Given the description of an element on the screen output the (x, y) to click on. 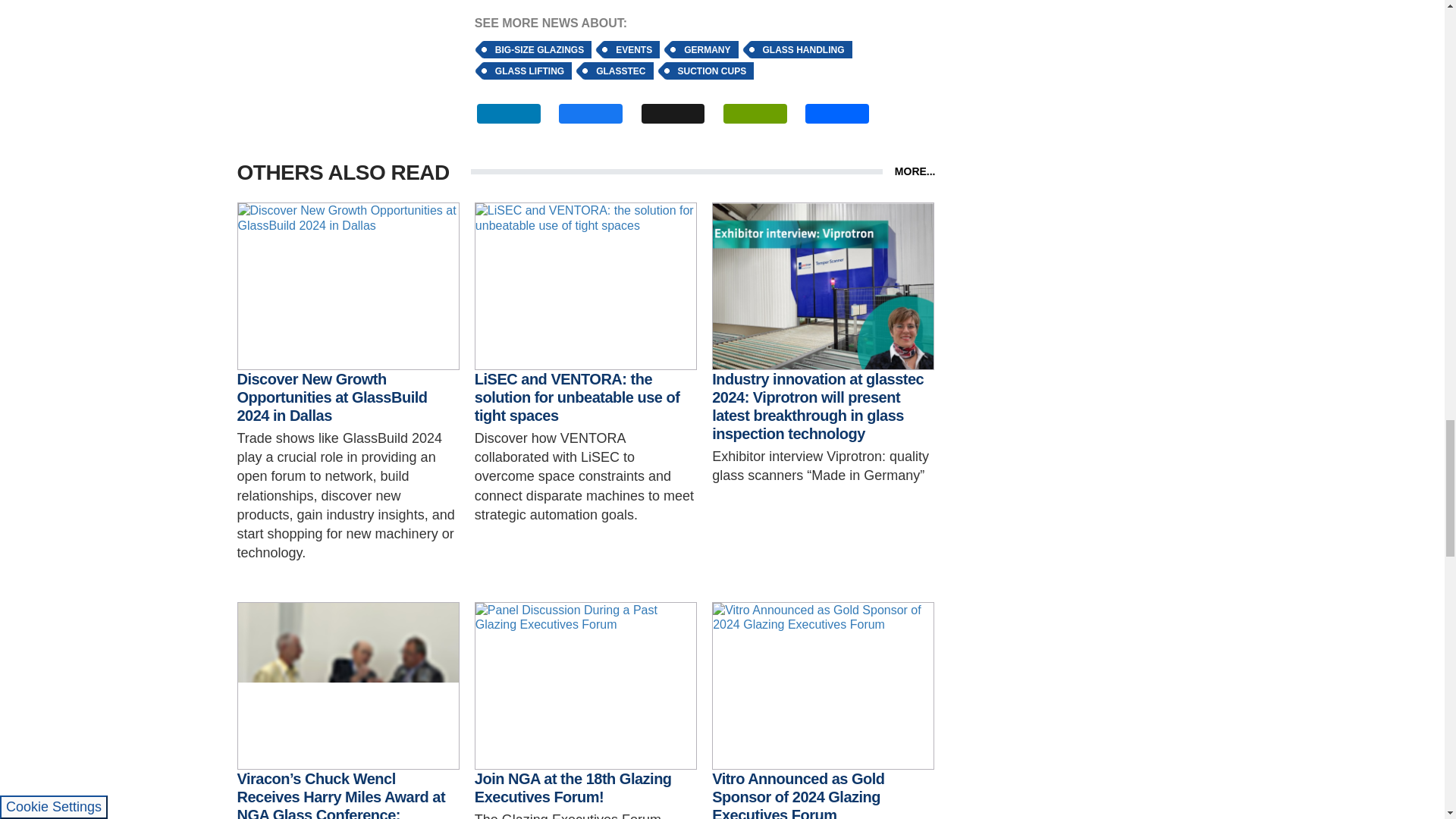
GLASS HANDLING (805, 49)
FACEBOOK (591, 113)
Panel Discussion During a Past Glazing Executives Forum (585, 685)
GERMANY (709, 49)
SUCTION CUPS (714, 70)
BIG-SIZE GLAZINGS (541, 49)
EVENTS (635, 49)
